Given the description of an element on the screen output the (x, y) to click on. 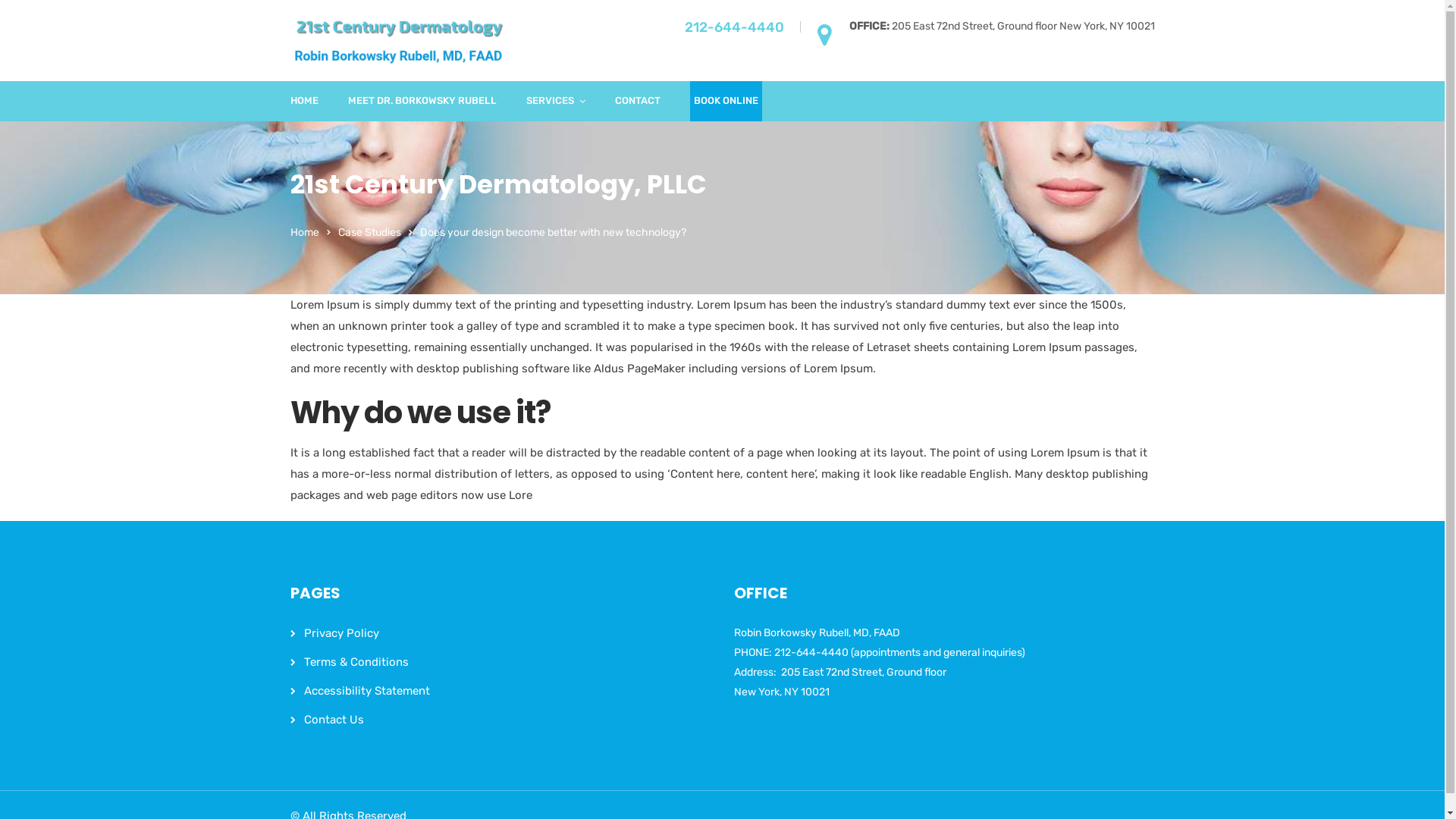
Contact Us Element type: text (333, 719)
Case Studies Element type: text (369, 231)
Terms & Conditions Element type: text (355, 661)
Privacy Policy Element type: text (340, 633)
CONTACT Element type: text (636, 101)
Accessibility Statement Element type: text (366, 690)
SERVICES Element type: text (555, 101)
MEET DR. BORKOWSKY RUBELL Element type: text (421, 101)
Home Element type: text (303, 231)
HOME Element type: text (303, 101)
BOOK ONLINE Element type: text (725, 101)
